Given the description of an element on the screen output the (x, y) to click on. 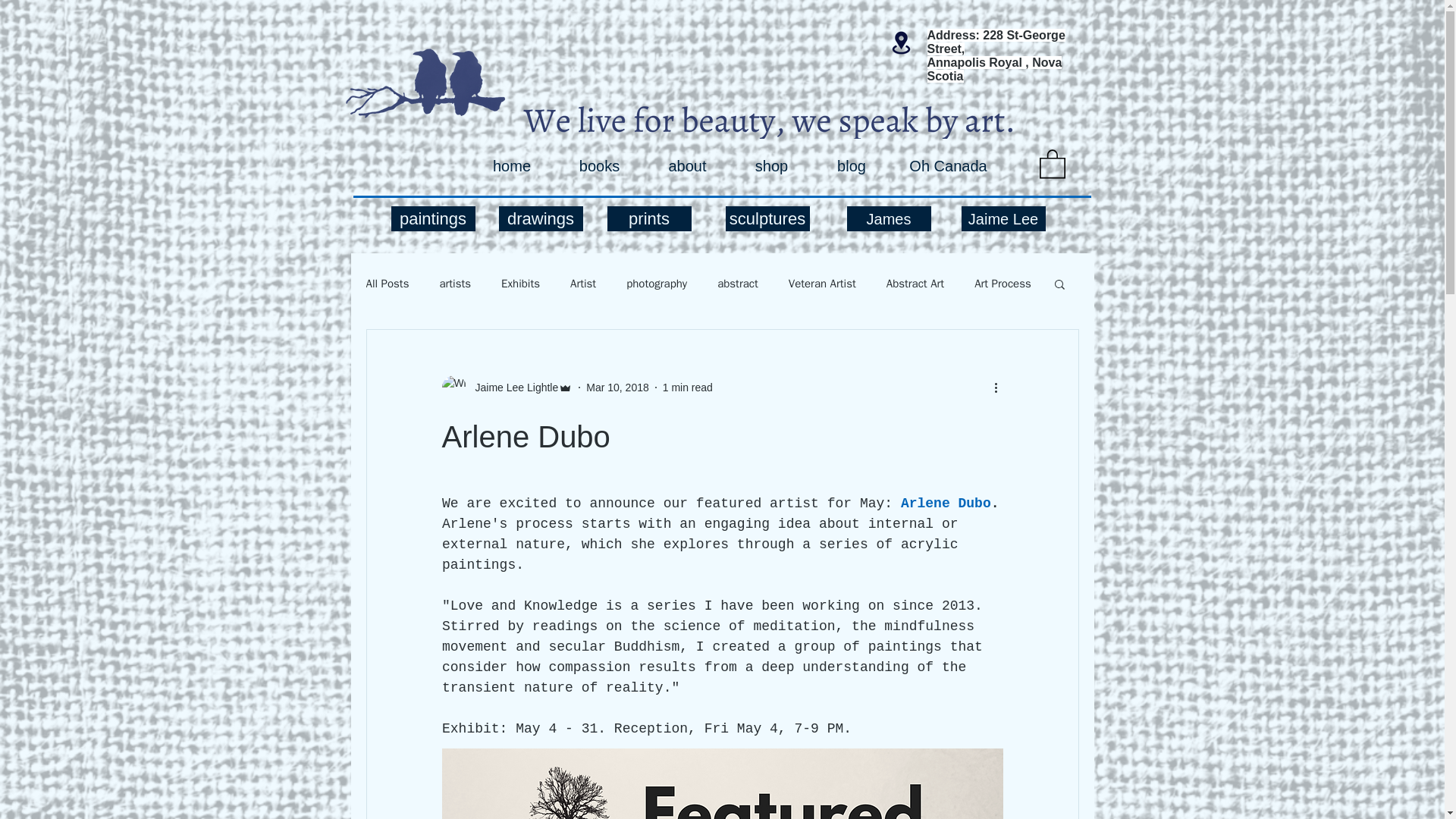
Oh Canada (947, 166)
James (887, 218)
Abstract Art (914, 283)
shop (771, 166)
about (687, 166)
abstract (737, 283)
books (599, 166)
Veteran Artist (822, 283)
drawings (541, 218)
Jaime Lee Lightle (511, 387)
photography (656, 283)
Exhibits (520, 283)
Art Process (1002, 283)
All Posts (387, 283)
prints (648, 218)
